Given the description of an element on the screen output the (x, y) to click on. 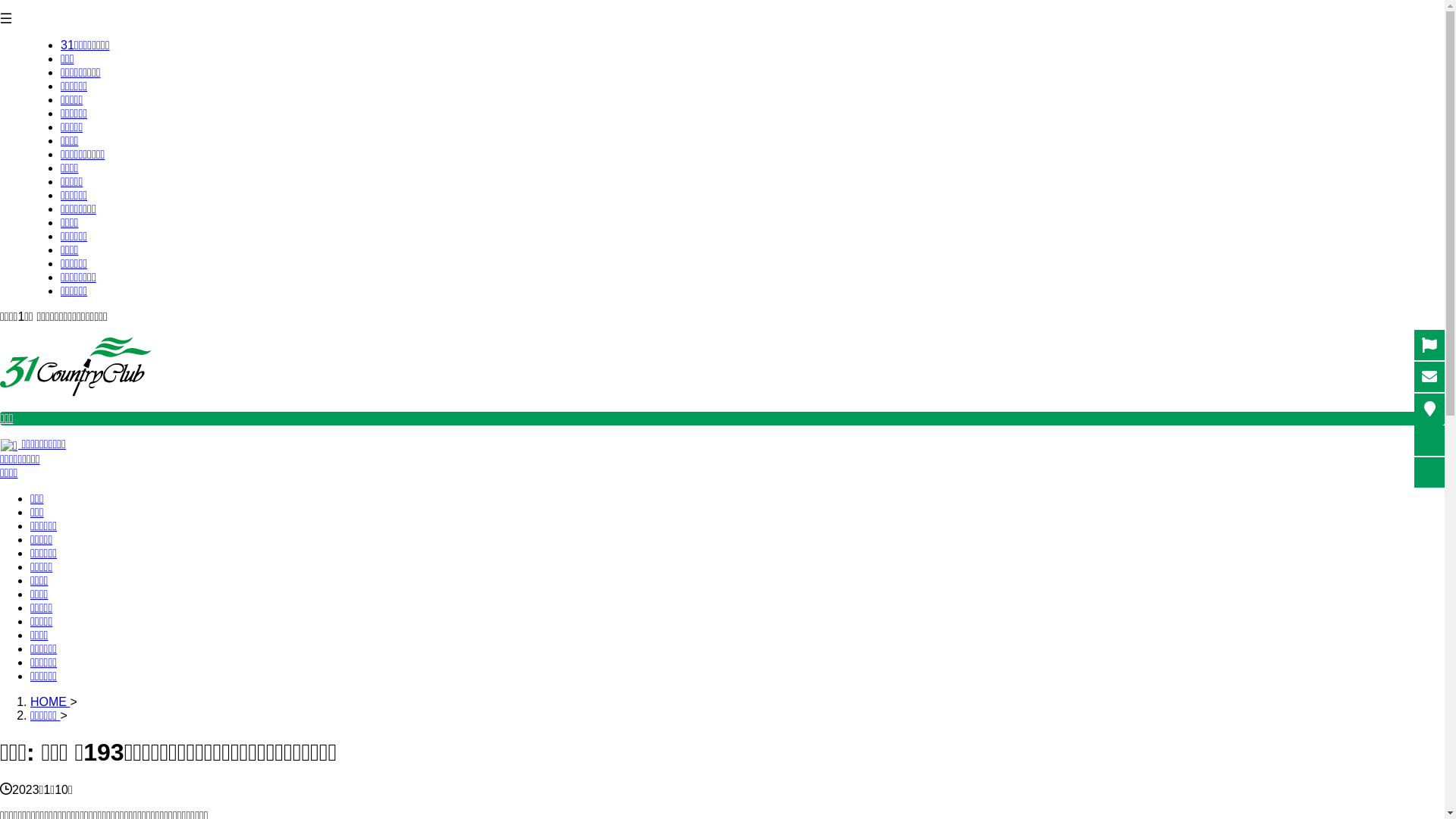
HOME Element type: text (49, 701)
